Given the description of an element on the screen output the (x, y) to click on. 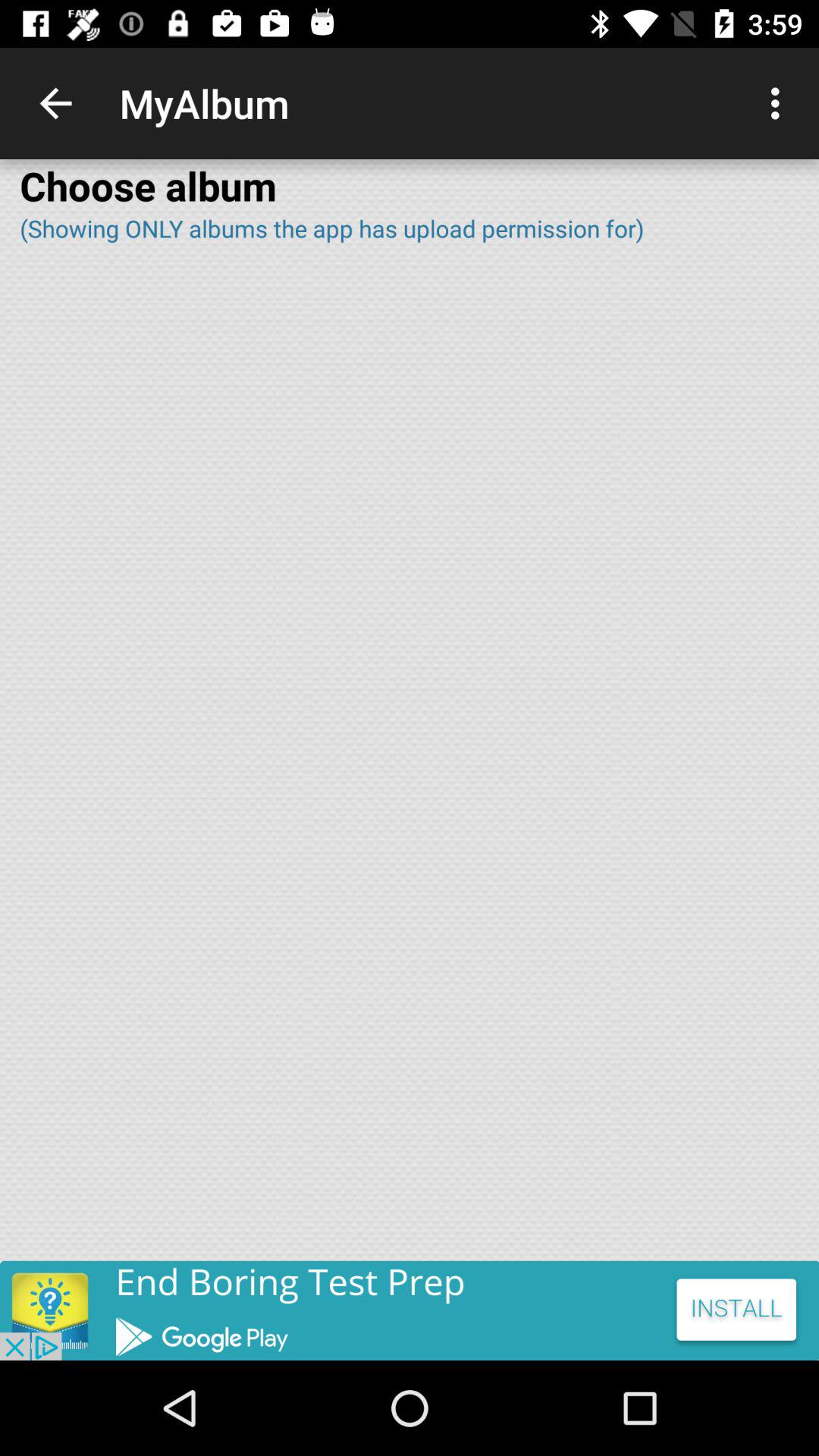
advertisement (409, 1310)
